Given the description of an element on the screen output the (x, y) to click on. 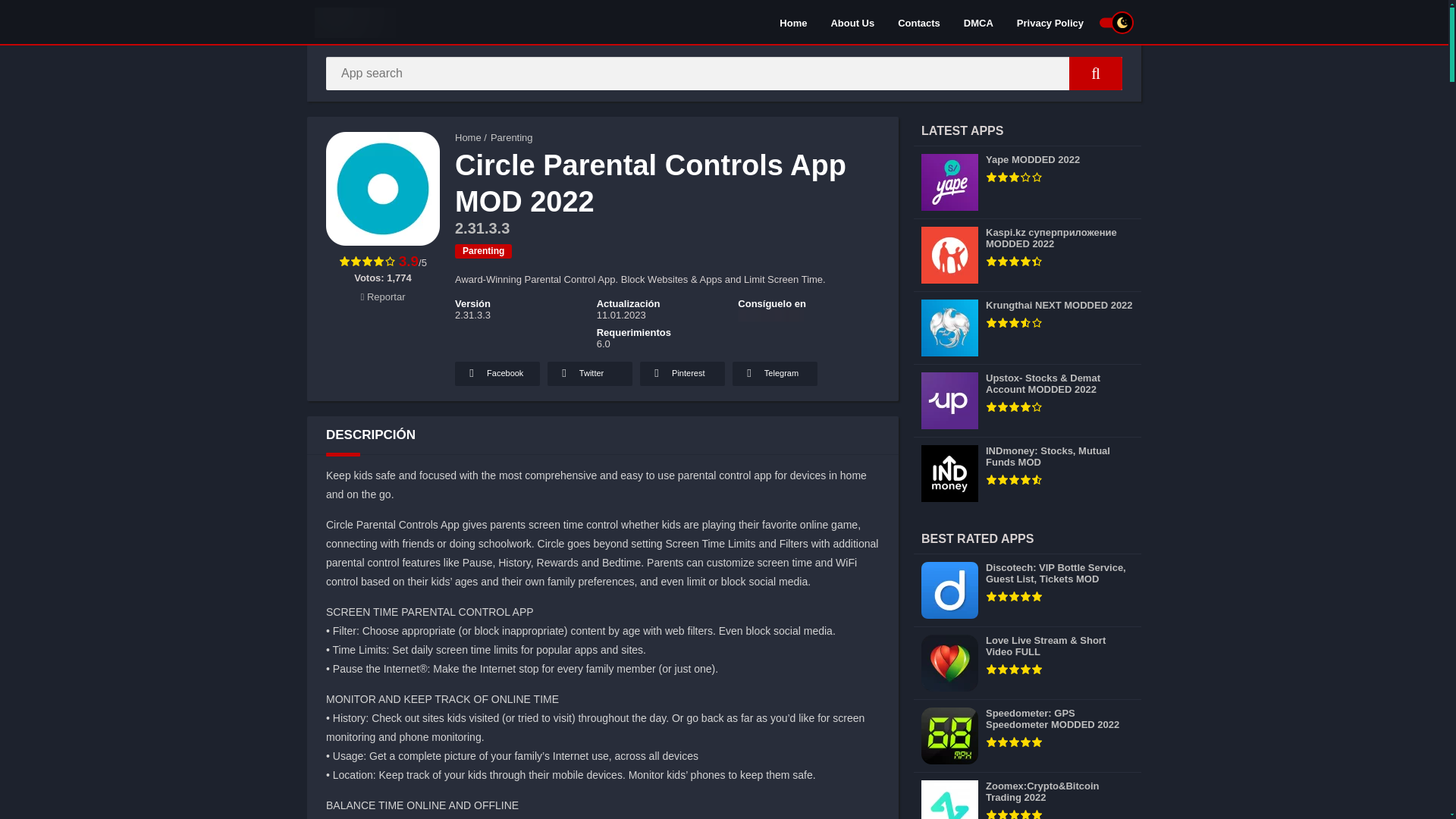
Home (467, 137)
Contacts (919, 22)
DMCA (978, 22)
Privacy Policy (1050, 22)
Parenting (483, 251)
Pinterest (682, 373)
Twitter (589, 373)
App search (1095, 73)
Facebook (497, 373)
Telegram (774, 373)
Parenting (511, 137)
Home (793, 22)
APK PEAK (467, 137)
Reportar (383, 296)
About Us (851, 22)
